Given the description of an element on the screen output the (x, y) to click on. 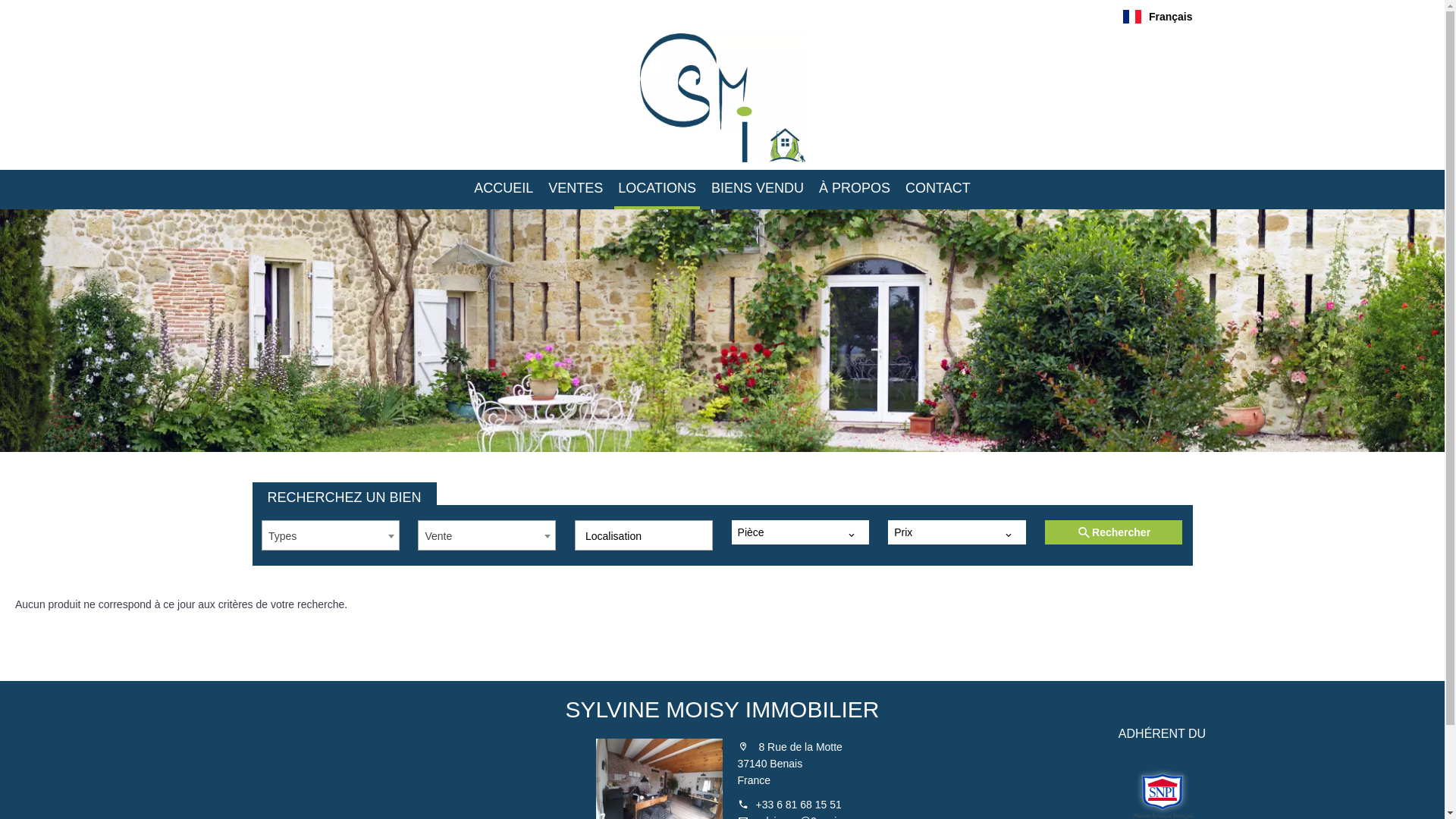
LOCATIONS Element type: text (656, 189)
Accueil Element type: text (721, 97)
BIENS VENDU Element type: text (757, 189)
CONTACT Element type: text (937, 189)
Rechercher Element type: text (1113, 532)
VENTES Element type: text (575, 189)
+33 6 81 68 15 51 Element type: text (797, 804)
SYLVINE MOISY IMMOBILIER Element type: text (722, 708)
ACCUEIL Element type: text (503, 189)
